Given the description of an element on the screen output the (x, y) to click on. 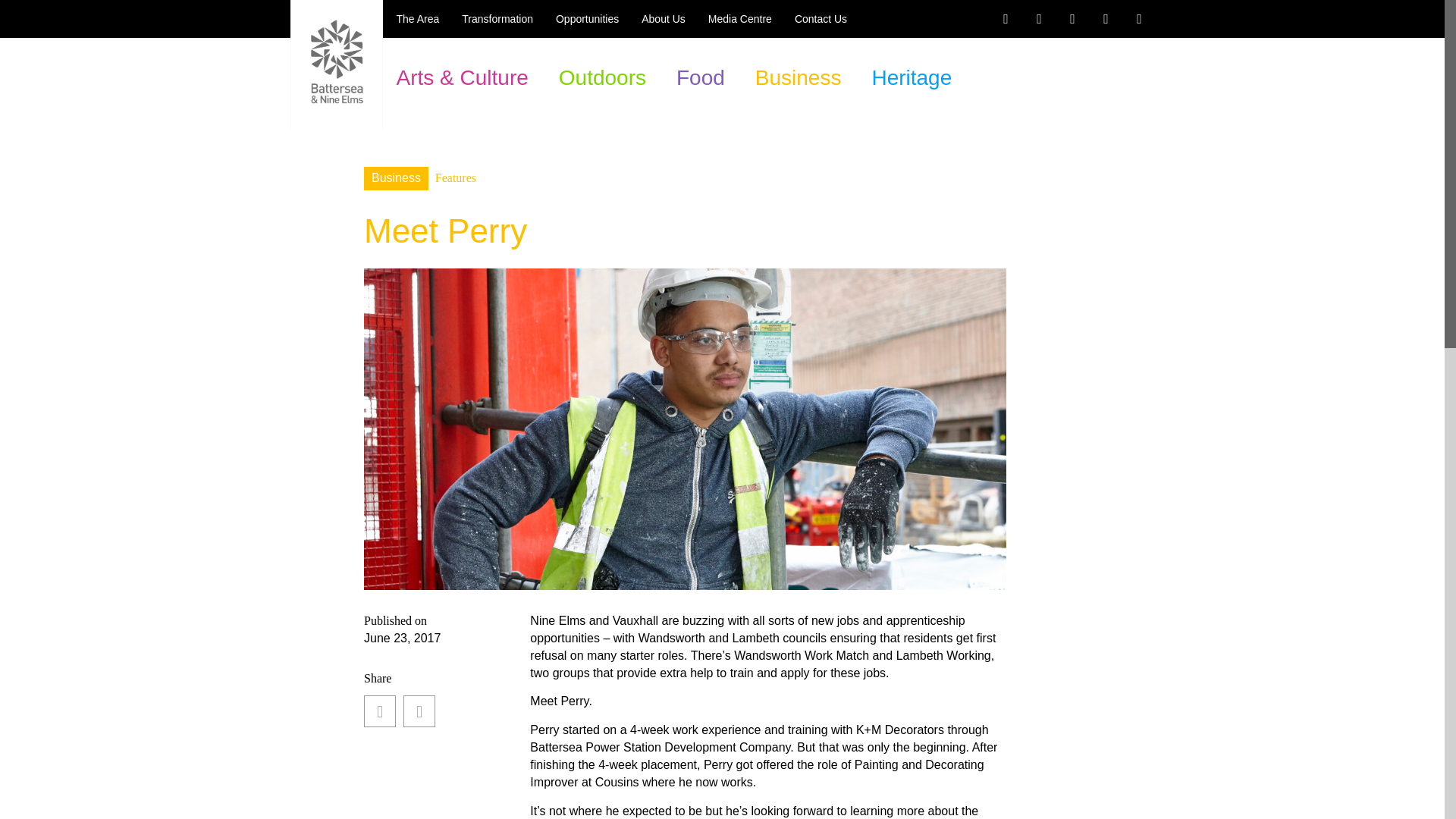
Facebook (1005, 19)
Instagram (1072, 19)
Transformation (496, 18)
Opportunities (587, 18)
Media Centre (739, 18)
About Us (663, 18)
YouTube (1105, 19)
Twitter (1038, 19)
The Area (417, 18)
